Given the description of an element on the screen output the (x, y) to click on. 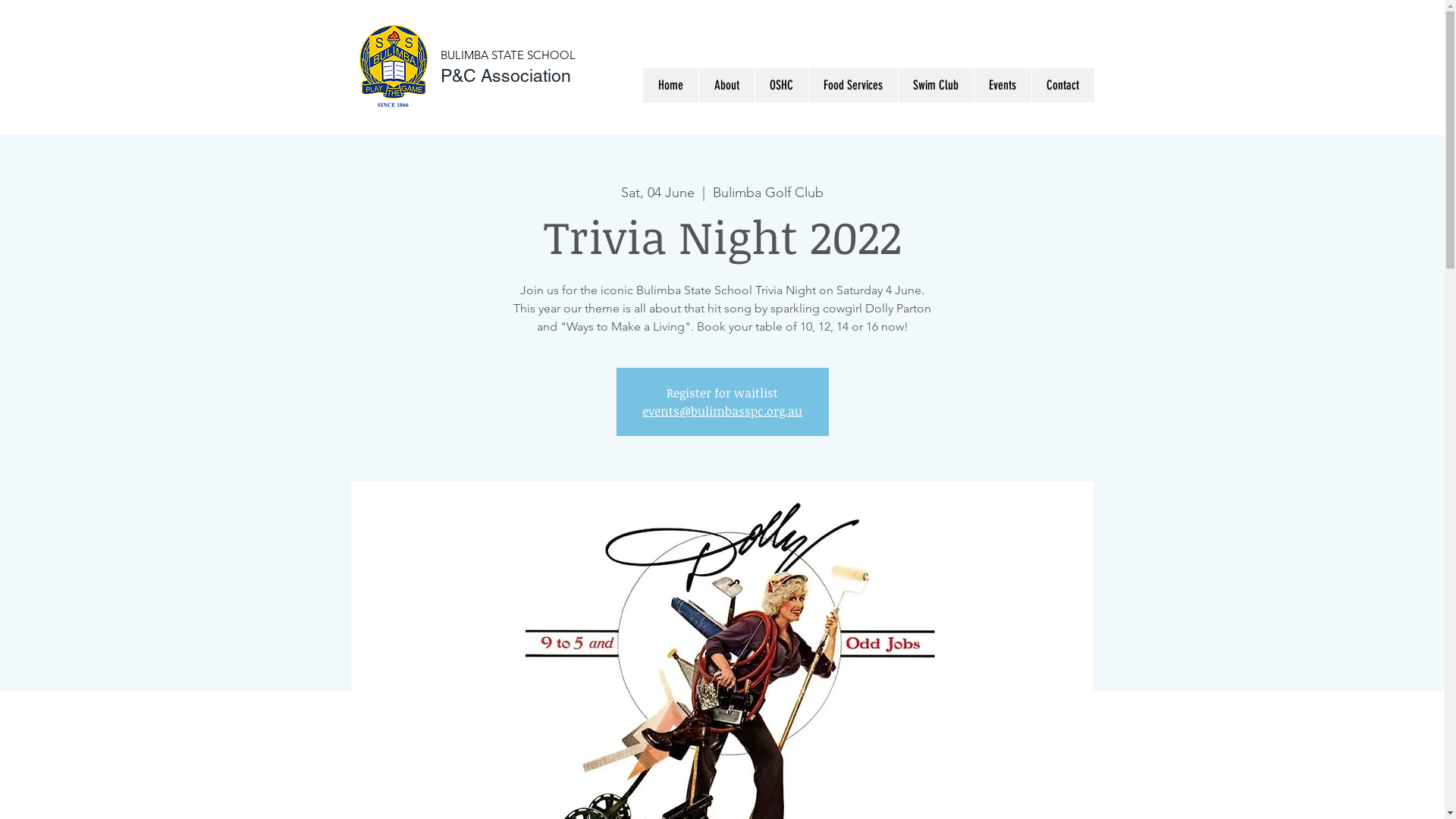
Home Element type: text (670, 85)
Contact Element type: text (1062, 85)
Swim Club Element type: text (935, 85)
events@bulimbasspc.org.au Element type: text (722, 410)
Events Element type: text (1002, 85)
About Element type: text (725, 85)
OSHC Element type: text (780, 85)
Food Services Element type: text (852, 85)
